Given the description of an element on the screen output the (x, y) to click on. 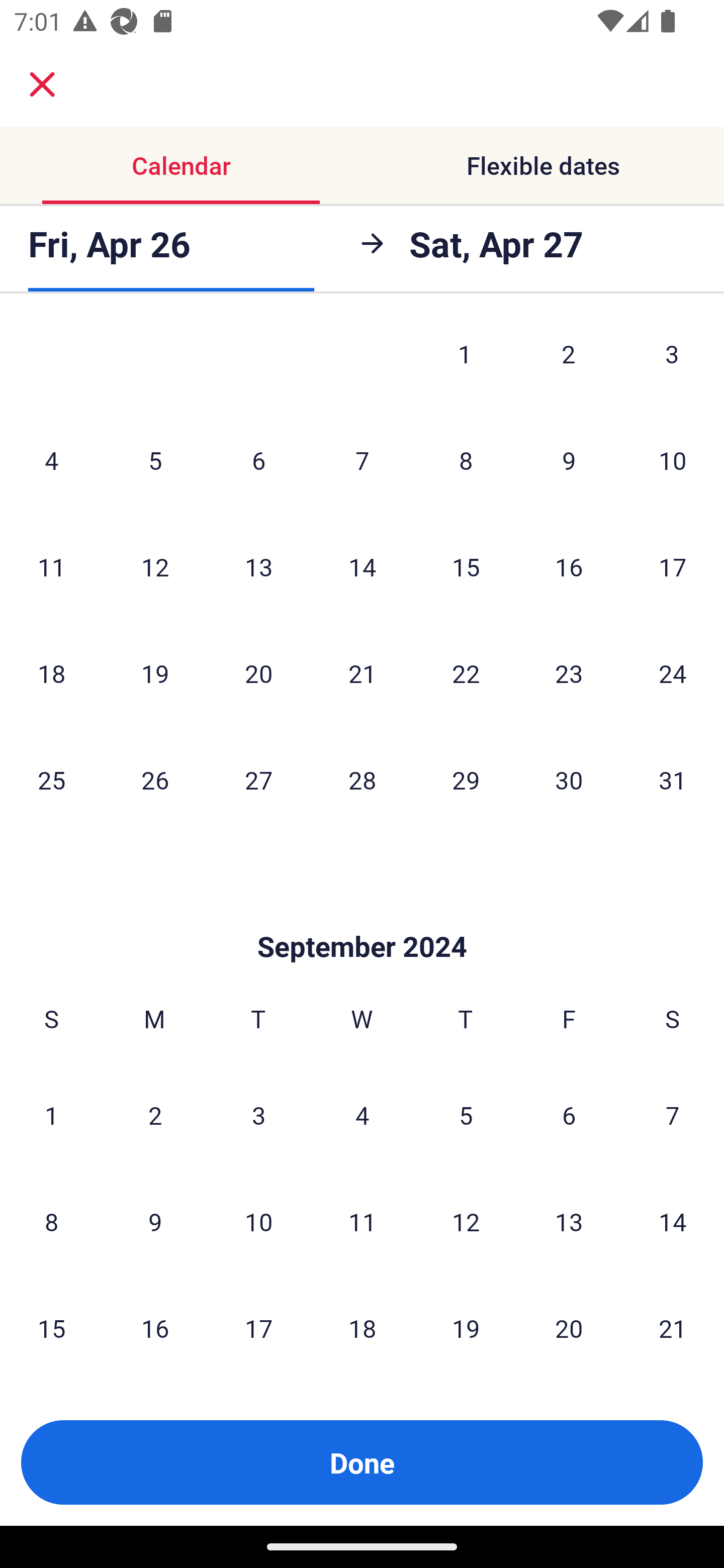
close. (42, 84)
Flexible dates (542, 164)
1 Thursday, August 1, 2024 (464, 362)
2 Friday, August 2, 2024 (568, 362)
3 Saturday, August 3, 2024 (672, 362)
4 Sunday, August 4, 2024 (51, 460)
5 Monday, August 5, 2024 (155, 460)
6 Tuesday, August 6, 2024 (258, 460)
7 Wednesday, August 7, 2024 (362, 460)
8 Thursday, August 8, 2024 (465, 460)
9 Friday, August 9, 2024 (569, 460)
10 Saturday, August 10, 2024 (672, 460)
11 Sunday, August 11, 2024 (51, 566)
12 Monday, August 12, 2024 (155, 566)
13 Tuesday, August 13, 2024 (258, 566)
14 Wednesday, August 14, 2024 (362, 566)
15 Thursday, August 15, 2024 (465, 566)
16 Friday, August 16, 2024 (569, 566)
17 Saturday, August 17, 2024 (672, 566)
18 Sunday, August 18, 2024 (51, 672)
19 Monday, August 19, 2024 (155, 672)
20 Tuesday, August 20, 2024 (258, 672)
21 Wednesday, August 21, 2024 (362, 672)
22 Thursday, August 22, 2024 (465, 672)
23 Friday, August 23, 2024 (569, 672)
24 Saturday, August 24, 2024 (672, 672)
25 Sunday, August 25, 2024 (51, 779)
26 Monday, August 26, 2024 (155, 779)
27 Tuesday, August 27, 2024 (258, 779)
28 Wednesday, August 28, 2024 (362, 779)
29 Thursday, August 29, 2024 (465, 779)
30 Friday, August 30, 2024 (569, 779)
31 Saturday, August 31, 2024 (672, 779)
Skip to Done (362, 916)
1 Sunday, September 1, 2024 (51, 1114)
2 Monday, September 2, 2024 (155, 1114)
3 Tuesday, September 3, 2024 (258, 1114)
4 Wednesday, September 4, 2024 (362, 1114)
5 Thursday, September 5, 2024 (465, 1114)
6 Friday, September 6, 2024 (569, 1114)
7 Saturday, September 7, 2024 (672, 1114)
8 Sunday, September 8, 2024 (51, 1221)
9 Monday, September 9, 2024 (155, 1221)
10 Tuesday, September 10, 2024 (258, 1221)
11 Wednesday, September 11, 2024 (362, 1221)
12 Thursday, September 12, 2024 (465, 1221)
13 Friday, September 13, 2024 (569, 1221)
14 Saturday, September 14, 2024 (672, 1221)
15 Sunday, September 15, 2024 (51, 1327)
16 Monday, September 16, 2024 (155, 1327)
17 Tuesday, September 17, 2024 (258, 1327)
18 Wednesday, September 18, 2024 (362, 1327)
19 Thursday, September 19, 2024 (465, 1327)
20 Friday, September 20, 2024 (569, 1327)
21 Saturday, September 21, 2024 (672, 1327)
Done (361, 1462)
